Given the description of an element on the screen output the (x, y) to click on. 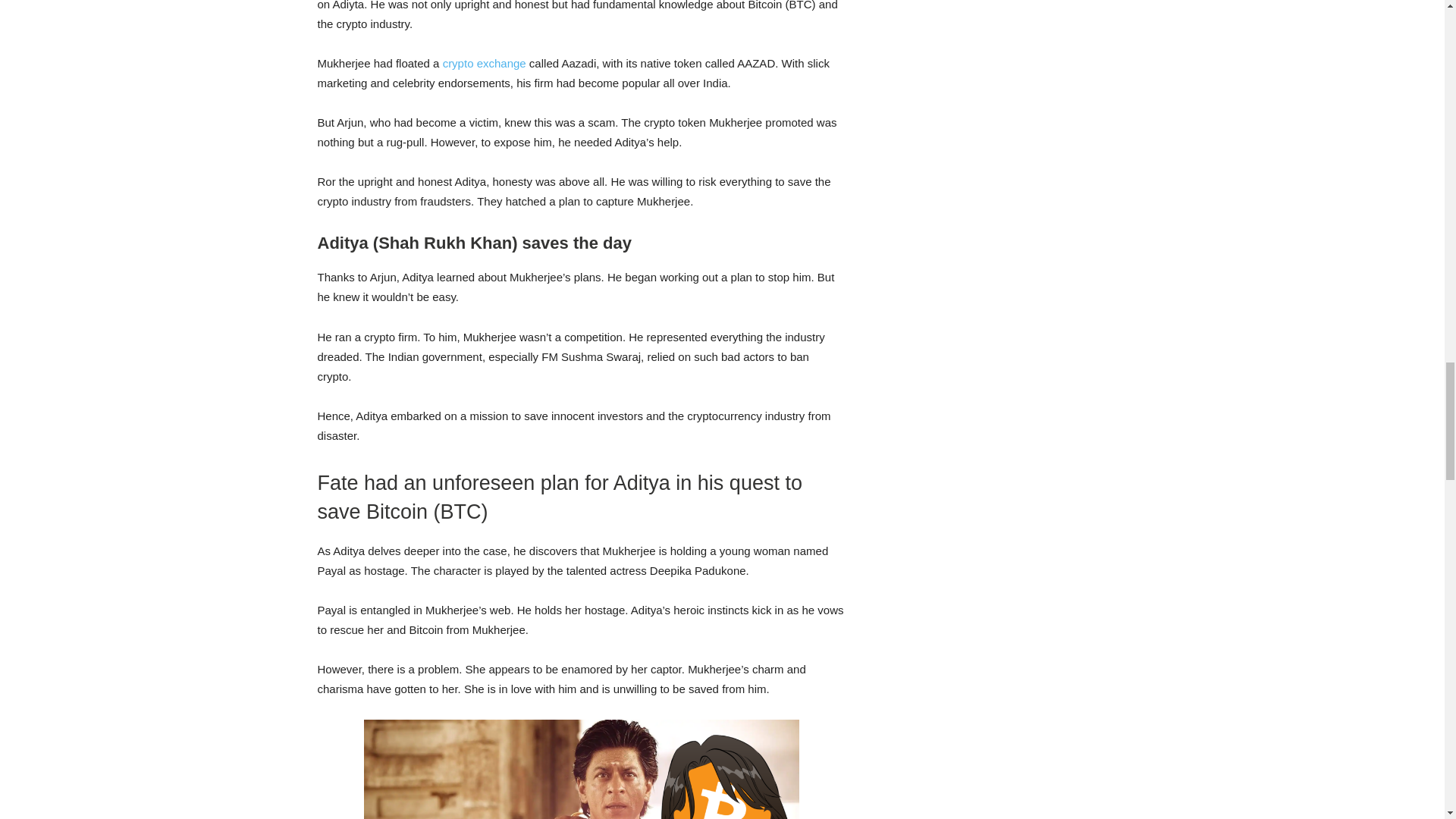
crypto exchange (483, 62)
